Given the description of an element on the screen output the (x, y) to click on. 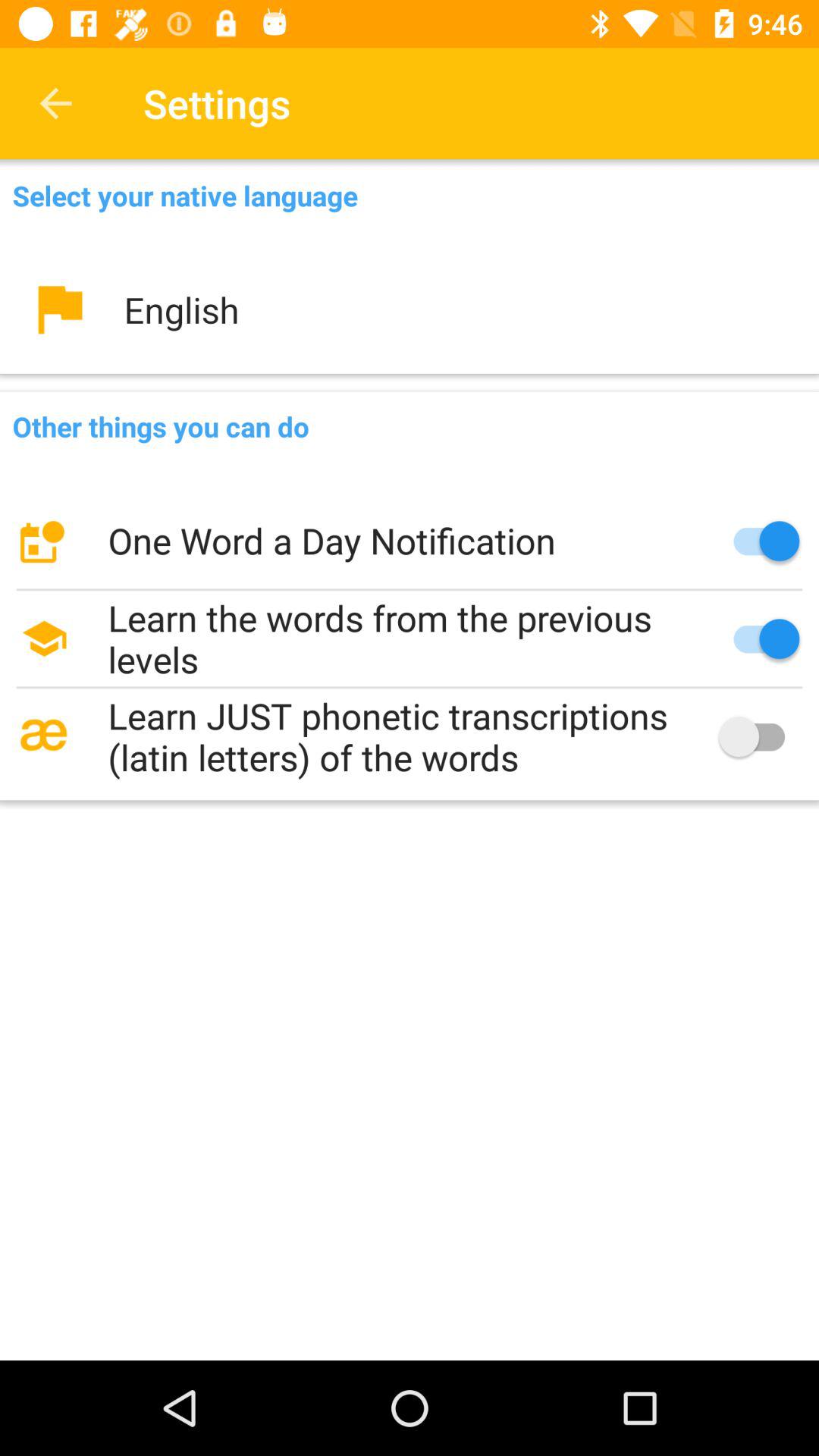
launch icon below other things you icon (409, 540)
